Given the description of an element on the screen output the (x, y) to click on. 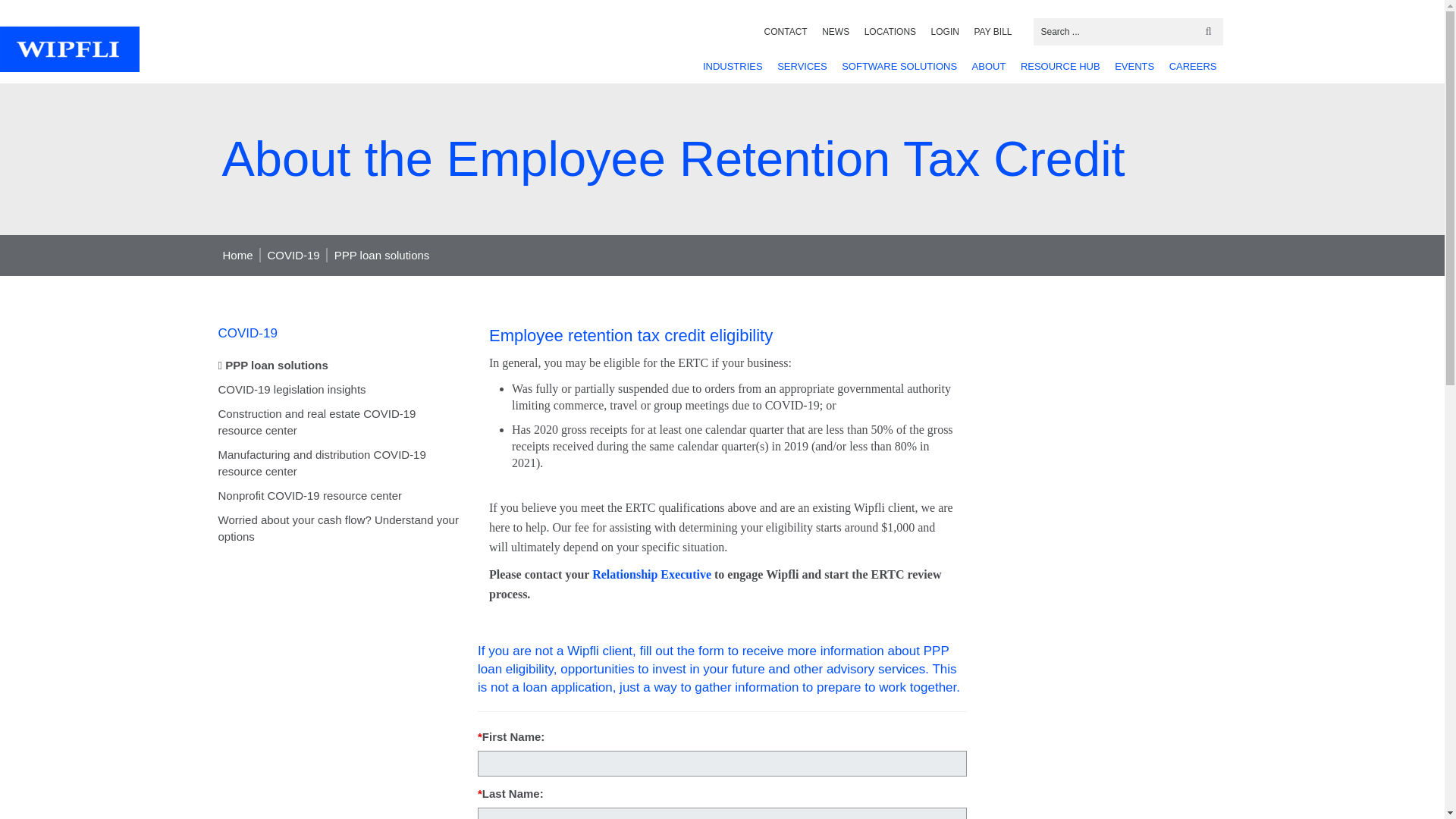
LOCATIONS (890, 32)
INDUSTRIES (732, 66)
CONTACT (785, 32)
LOGIN (944, 32)
PAY BILL (992, 32)
SERVICES (801, 66)
NEWS (835, 32)
